Given the description of an element on the screen output the (x, y) to click on. 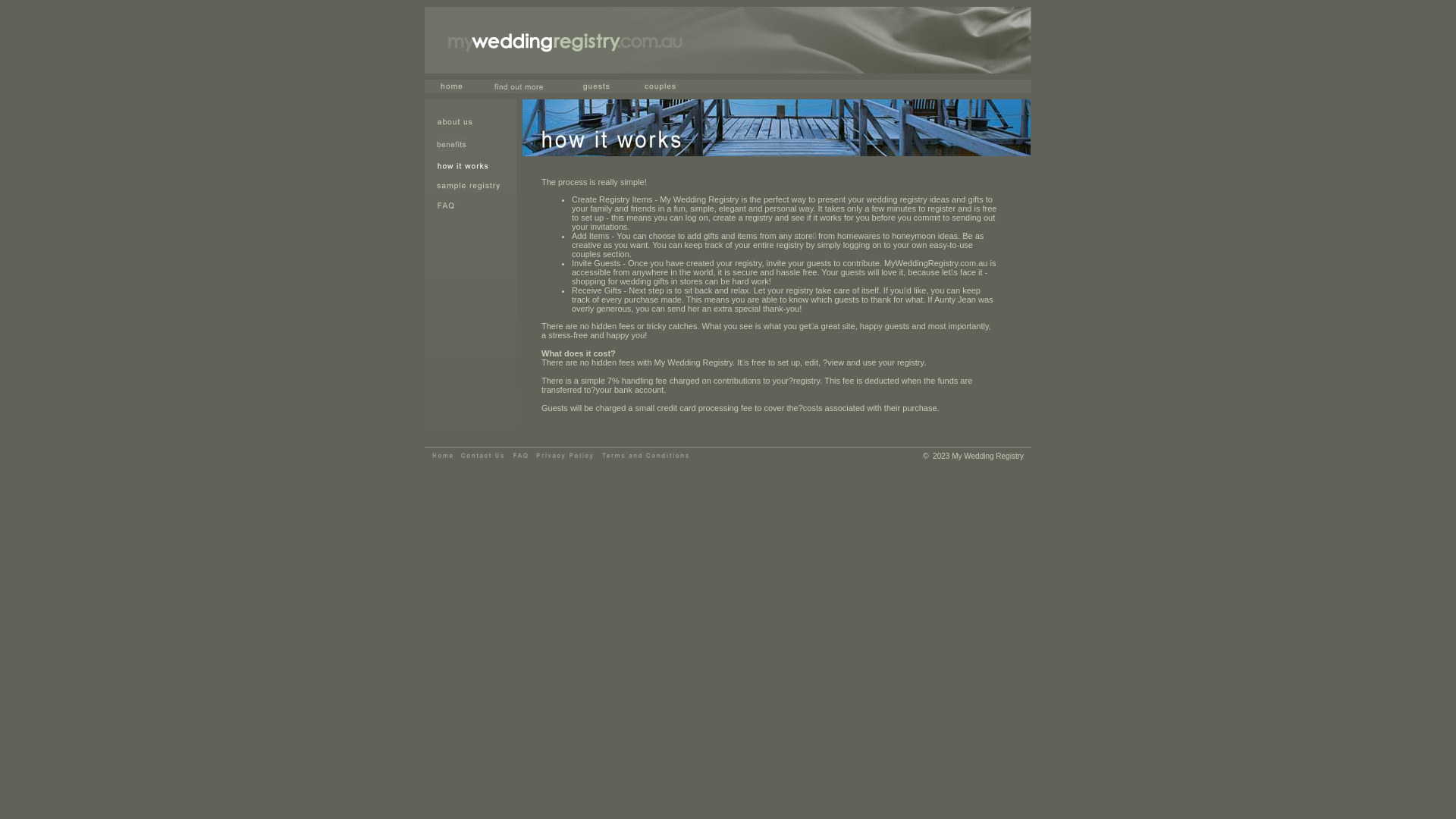
myWeddingregistry Element type: hover (442, 455)
My Wedding Registry Element type: hover (727, 39)
